Given the description of an element on the screen output the (x, y) to click on. 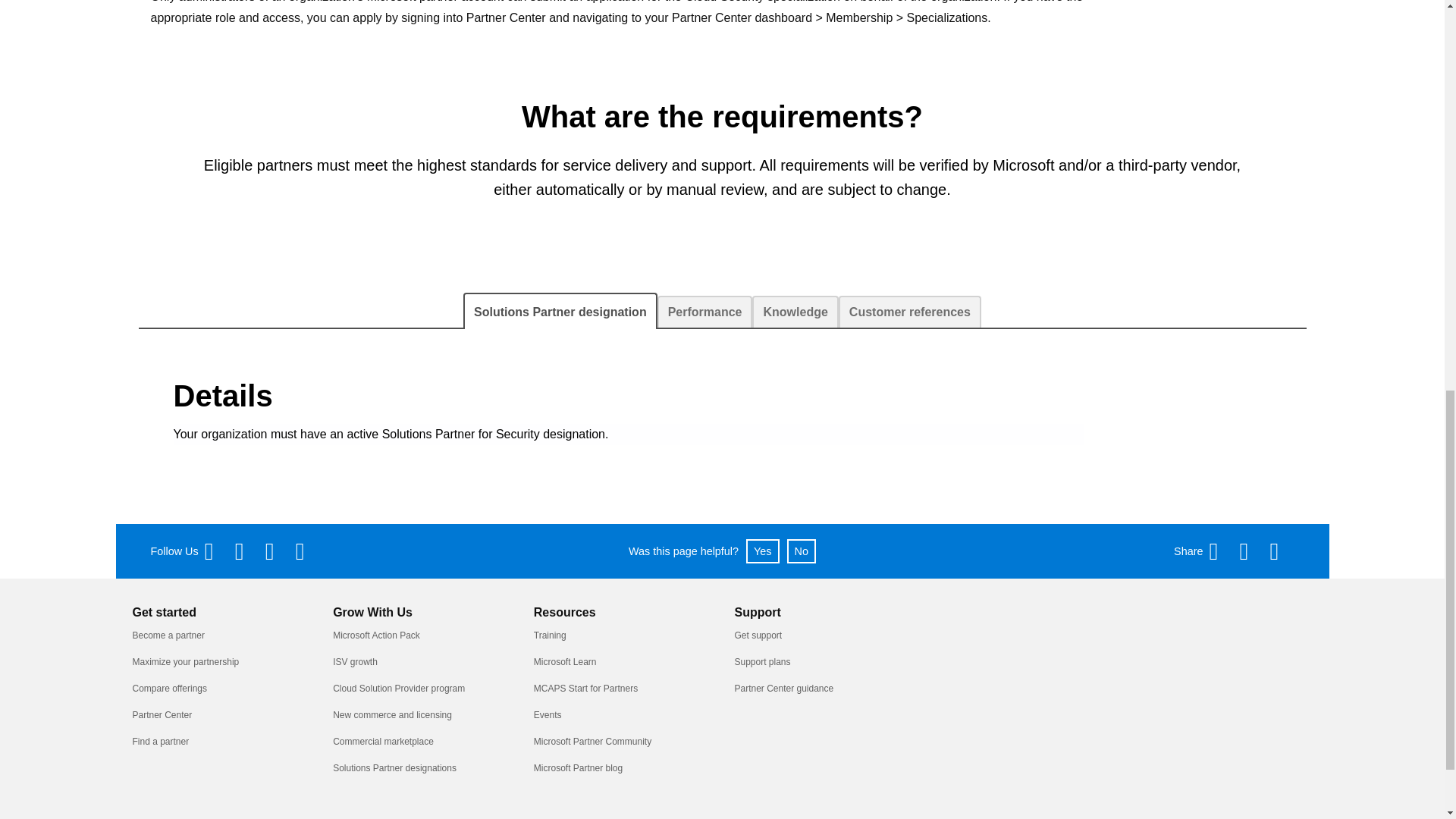
Follow us on Facebook (216, 550)
Follow us on Twitter (246, 550)
Follow us on YouTube (276, 550)
Follow us on Linkedin (307, 550)
Solutions Partner designation (560, 310)
